Given the description of an element on the screen output the (x, y) to click on. 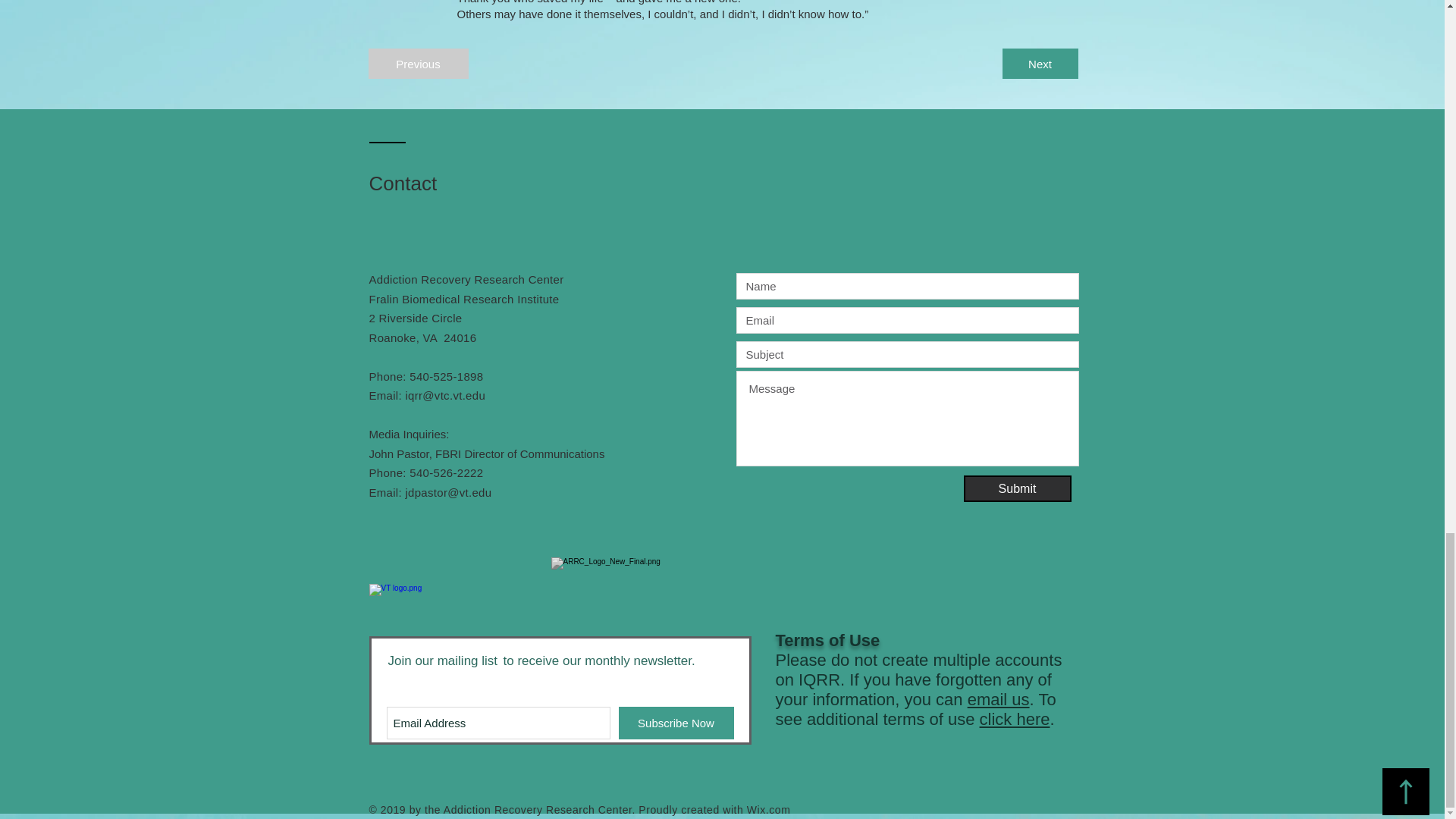
Previous (418, 63)
